Given the description of an element on the screen output the (x, y) to click on. 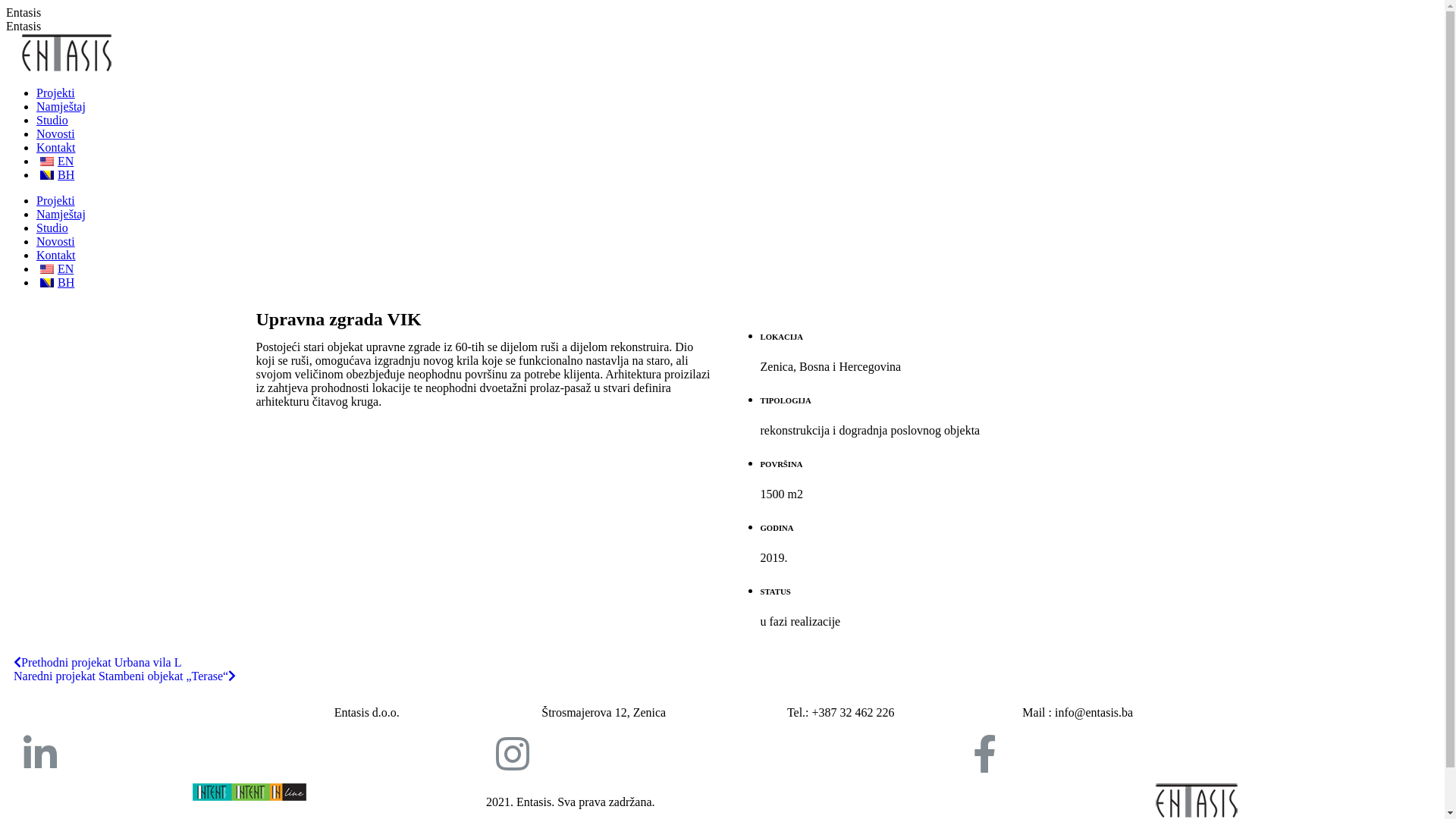
Studio Element type: text (52, 227)
Novosti Element type: text (55, 241)
English Element type: hover (46, 161)
Kontakt Element type: text (55, 254)
Bosnian Element type: hover (46, 174)
Novosti Element type: text (55, 133)
EN Element type: text (54, 268)
Prethodni projekat Urbana vila L Element type: text (97, 661)
Projekti Element type: text (55, 200)
BH Element type: text (55, 282)
Bosnian Element type: hover (46, 282)
EN Element type: text (54, 160)
Kontakt Element type: text (55, 147)
English Element type: hover (46, 268)
Studio Element type: text (52, 119)
Projekti Element type: text (55, 92)
BH Element type: text (55, 174)
